Given the description of an element on the screen output the (x, y) to click on. 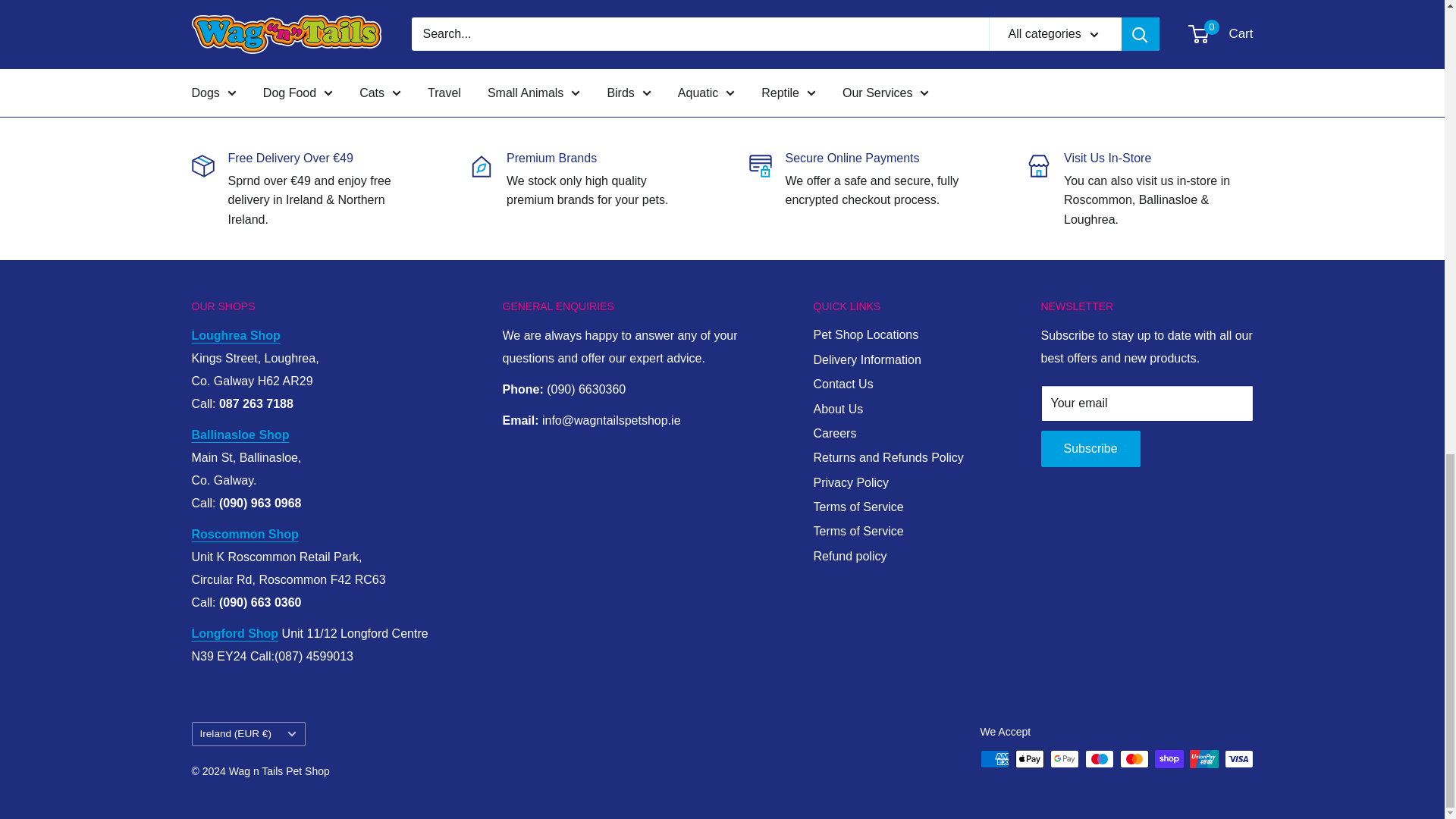
Pet Shop Loughrea (234, 335)
Pet Shop Longford (234, 633)
Pet Shop Roscommon (244, 533)
Pet Shop Ballinasloe (239, 434)
